Given the description of an element on the screen output the (x, y) to click on. 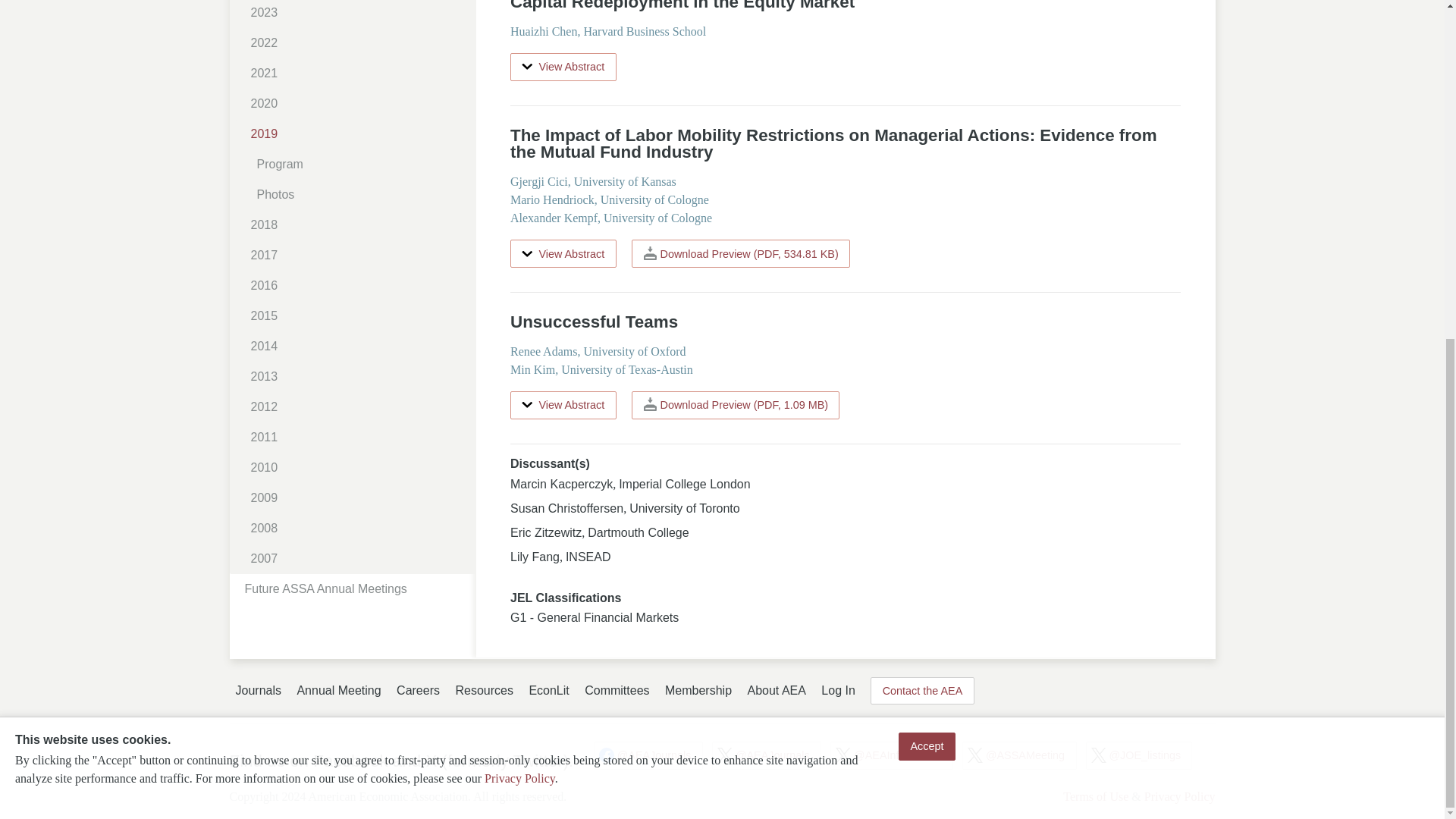
2023 (358, 13)
View Abstract (563, 253)
View Abstract (563, 67)
View Abstract (563, 405)
Accept (926, 172)
Privacy Policy (519, 205)
2022 (358, 42)
